Given the description of an element on the screen output the (x, y) to click on. 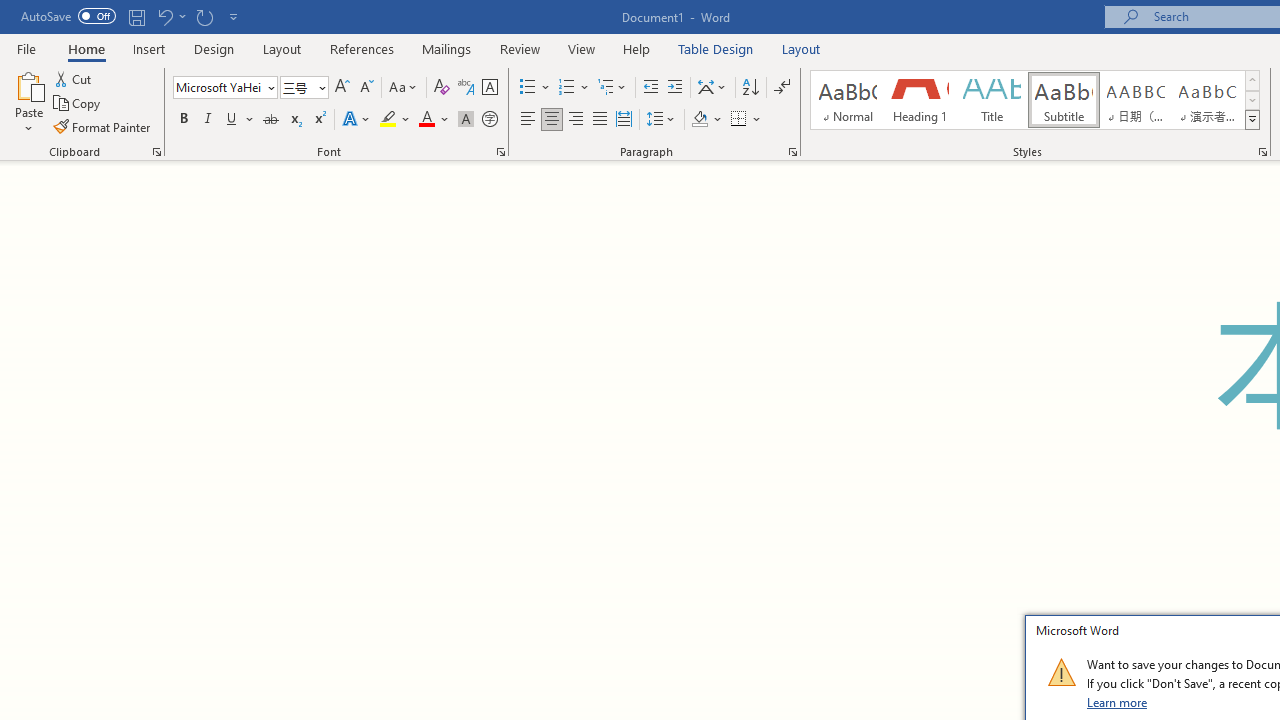
Grow Font (342, 87)
Text Highlight Color (395, 119)
Justify (599, 119)
Enclose Characters... (489, 119)
Paragraph... (792, 151)
Text Effects and Typography (357, 119)
Learn more (1118, 702)
Shading (706, 119)
